Given the description of an element on the screen output the (x, y) to click on. 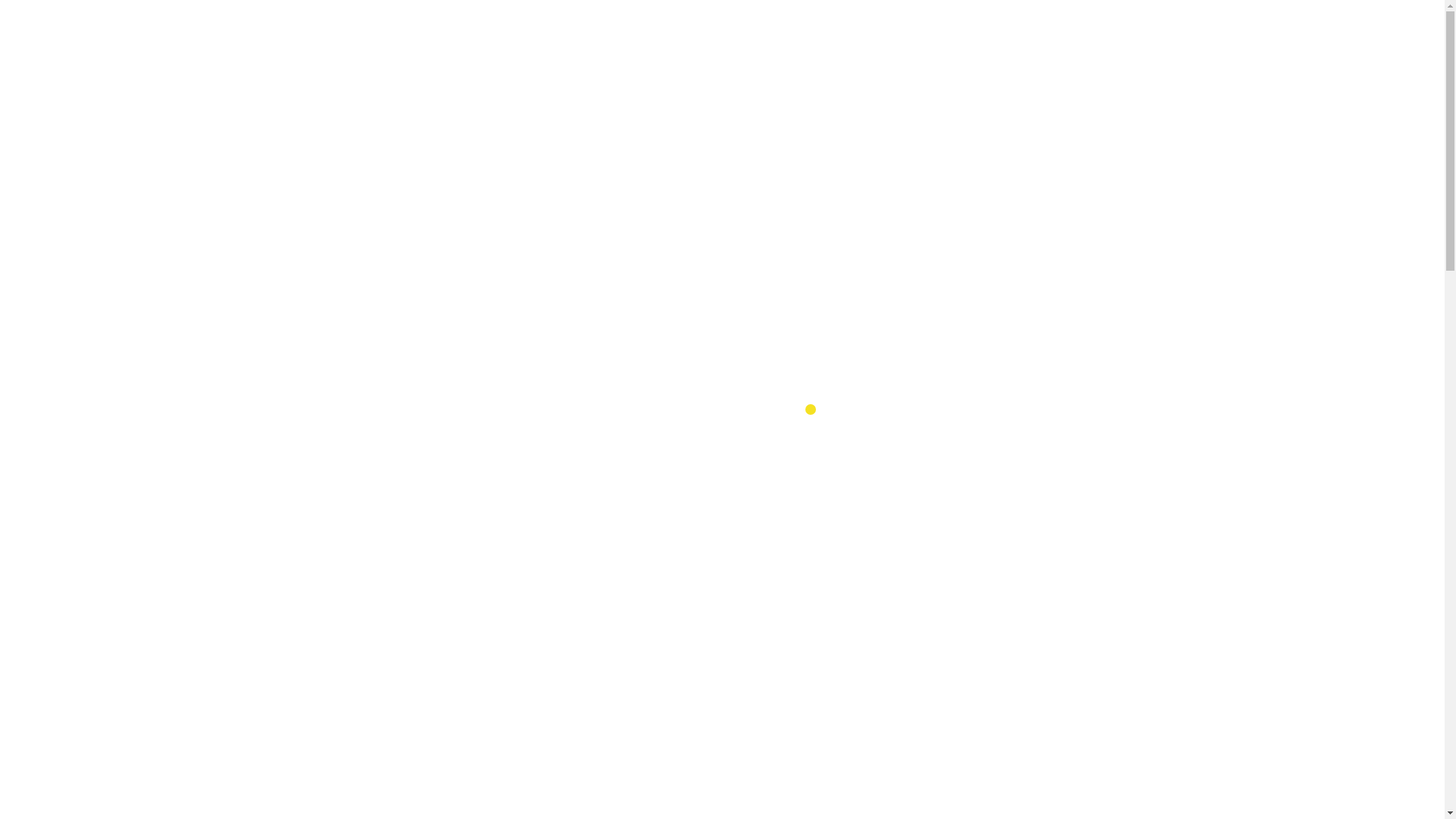
About Us Element type: text (723, 33)
2020opticals Element type: text (838, 287)
Our Services Element type: text (650, 33)
Make An Inquiry Element type: text (808, 239)
Wholesale Eyewears Element type: text (426, 33)
2022 New collection Aceate Optical frame AS6407 Element type: text (180, 759)
Home Element type: text (287, 78)
Contact Us Element type: text (787, 33)
FAQs Element type: text (838, 33)
Eyewear Solutions Element type: text (548, 33)
